Given the description of an element on the screen output the (x, y) to click on. 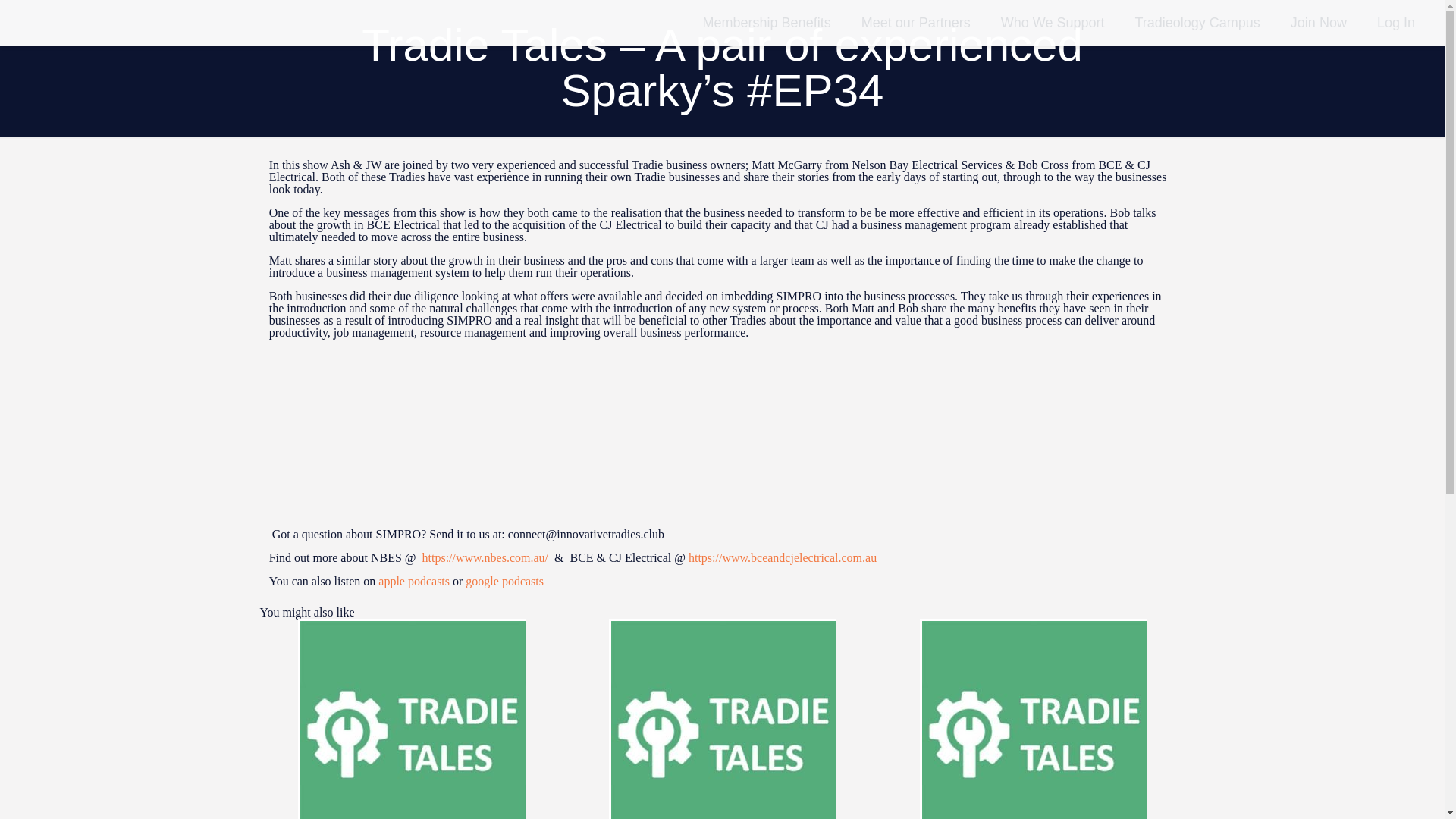
apple podcasts (413, 581)
Membership Benefits (766, 22)
Meet our Partners (915, 22)
Tradieology Campus (1197, 22)
Join Now (1318, 22)
google podcasts (504, 581)
Who We Support (1052, 22)
Innovative Tradies Club (84, 22)
Log In (1395, 22)
